Given the description of an element on the screen output the (x, y) to click on. 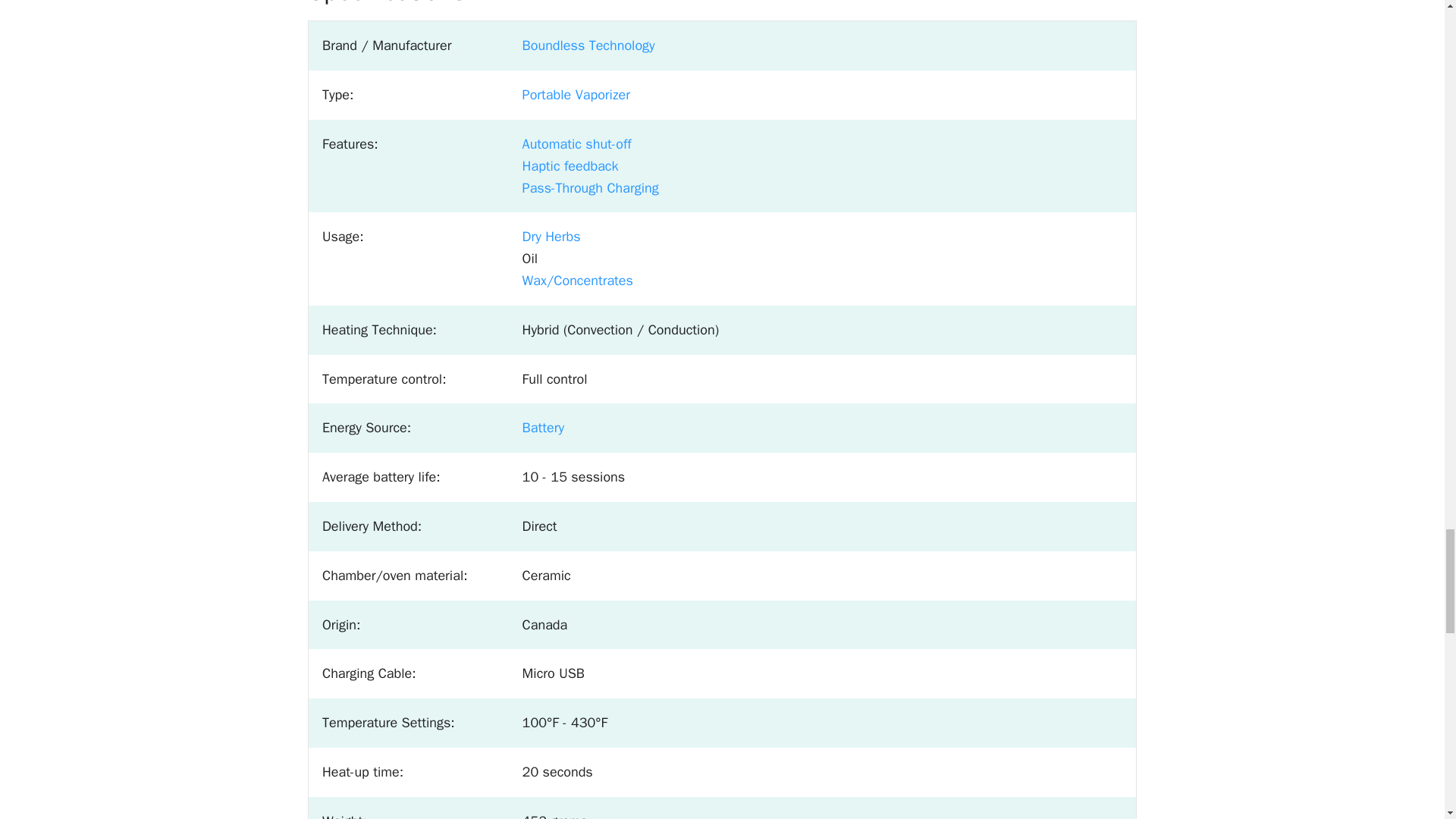
Show all: Battery-powered Cannabis Vaporizers (543, 427)
Show all: Vaporizers with Pass-Through Charging (590, 187)
Show all: Dry Herb Vaporizer (551, 236)
Show all: Vaporizers that automatically shut-off (576, 143)
